Given the description of an element on the screen output the (x, y) to click on. 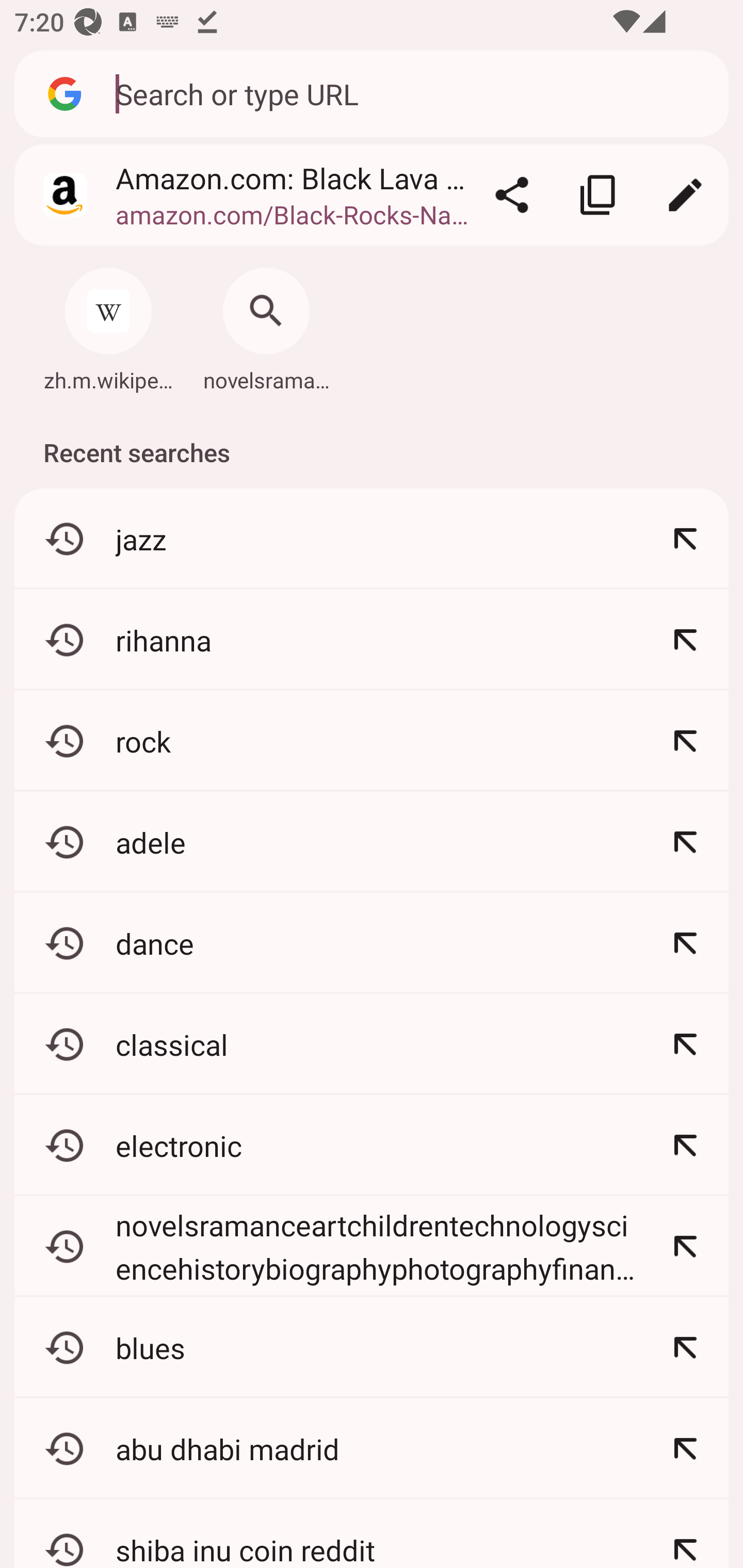
Search or type URL (410, 92)
Share… (511, 195)
Copy link (598, 195)
Edit (684, 195)
jazz Refine: jazz (371, 539)
Refine: jazz (684, 539)
rihanna Refine: rihanna (371, 639)
Refine: rihanna (684, 639)
rock Refine: rock (371, 740)
Refine: rock (684, 740)
adele Refine: adele (371, 841)
Refine: adele (684, 841)
dance Refine: dance (371, 943)
Refine: dance (684, 943)
classical Refine: classical (371, 1044)
Refine: classical (684, 1044)
electronic Refine: electronic (371, 1145)
Refine: electronic (684, 1145)
blues Refine: blues (371, 1347)
Refine: blues (684, 1347)
abu dhabi madrid Refine: abu dhabi madrid (371, 1448)
Refine: abu dhabi madrid (684, 1448)
Refine: shiba inu coin reddit (684, 1533)
